Given the description of an element on the screen output the (x, y) to click on. 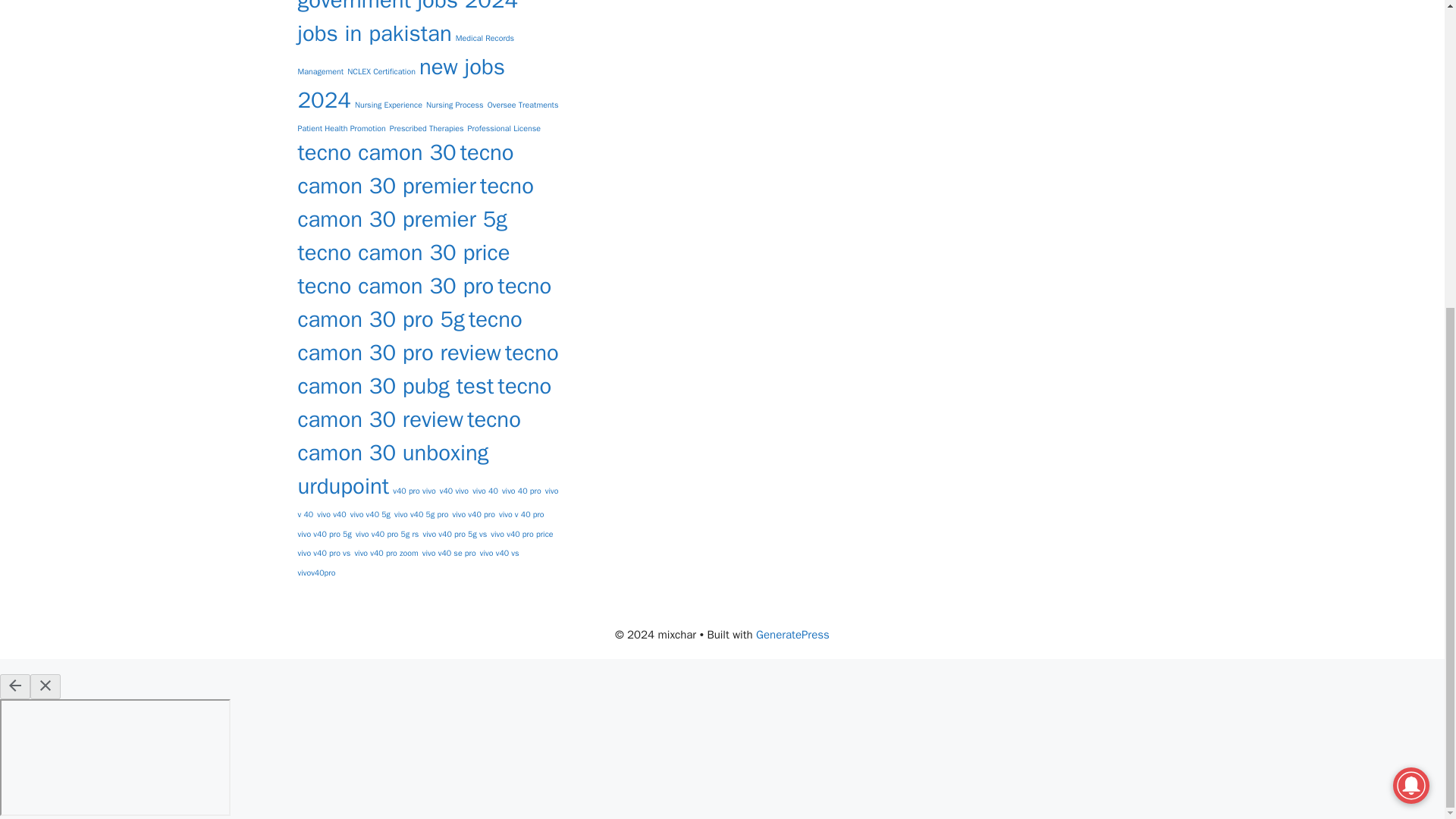
tecno camon 30 review (424, 403)
Medical Records Management (405, 54)
NCLEX Certification (380, 71)
tecno camon 30 premier 5g (414, 202)
tecno camon 30 pubg test (427, 369)
tecno camon 30 price (403, 252)
urdupoint (342, 486)
tecno camon 30 premier (405, 168)
tecno camon 30 pro 5g (424, 302)
tecno camon 30 pro (395, 285)
